Given the description of an element on the screen output the (x, y) to click on. 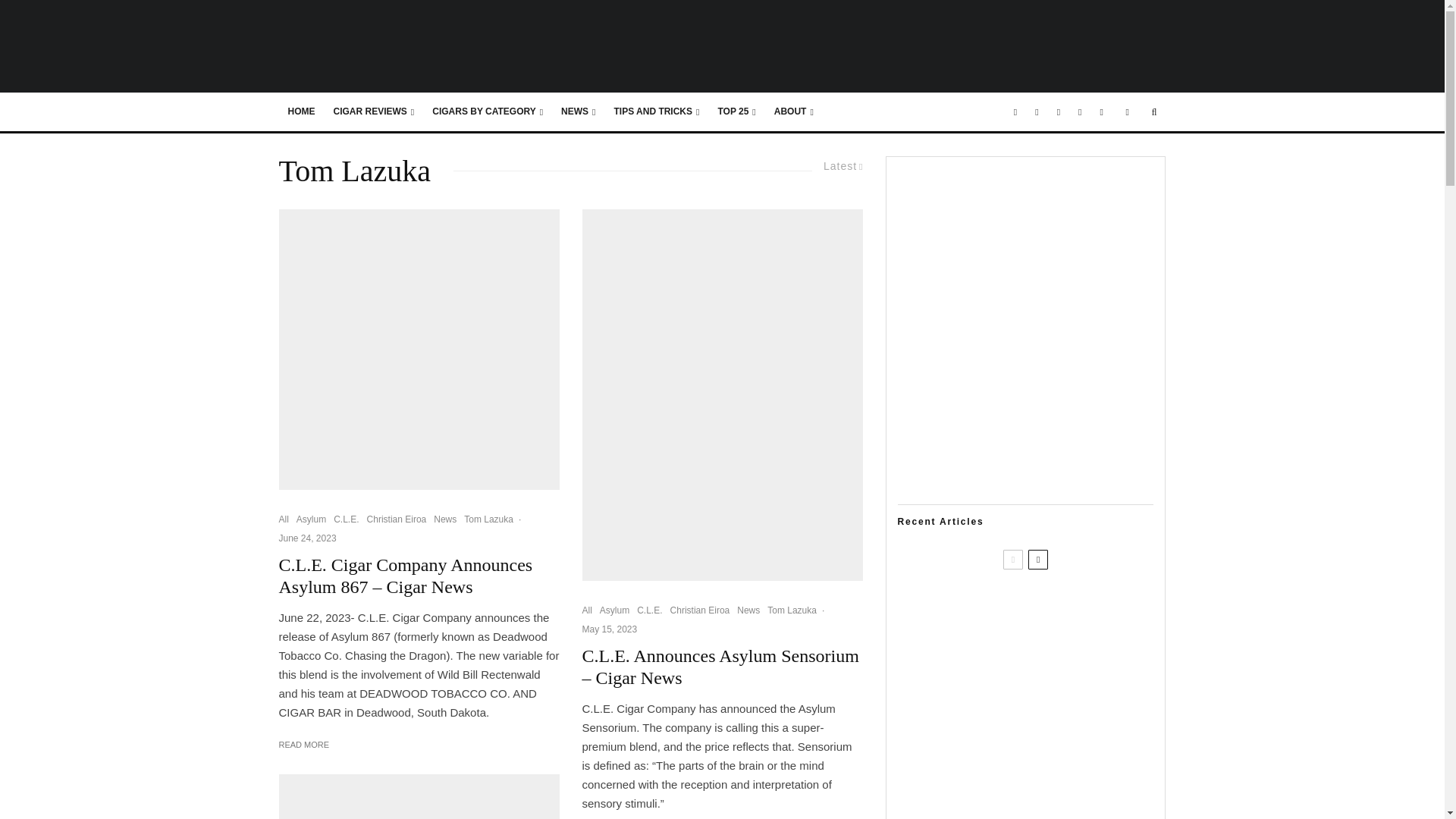
HOME (301, 112)
CIGAR REVIEWS (373, 112)
CIGARS BY CATEGORY (487, 112)
